Given the description of an element on the screen output the (x, y) to click on. 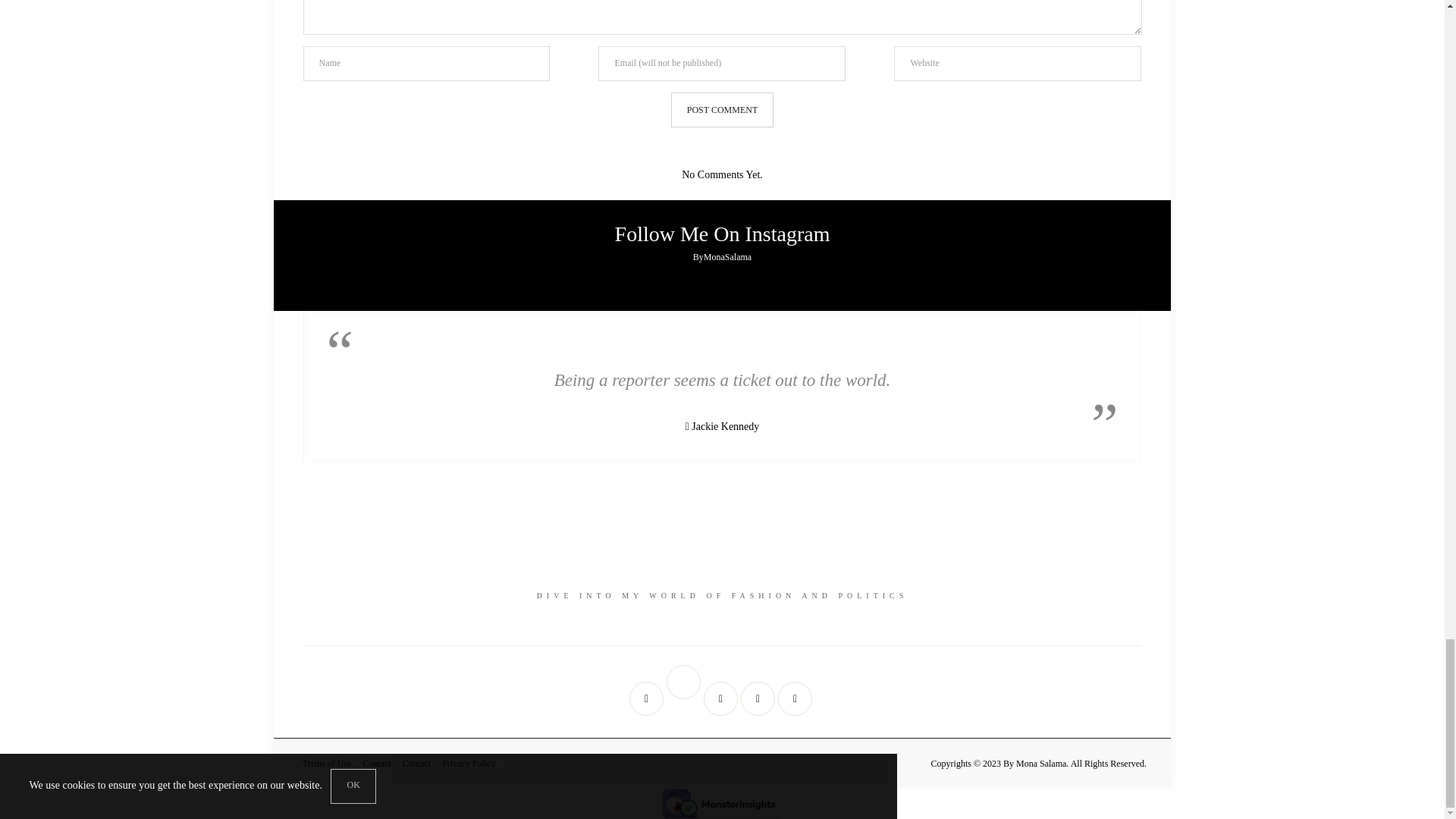
Post comment (722, 109)
